Given the description of an element on the screen output the (x, y) to click on. 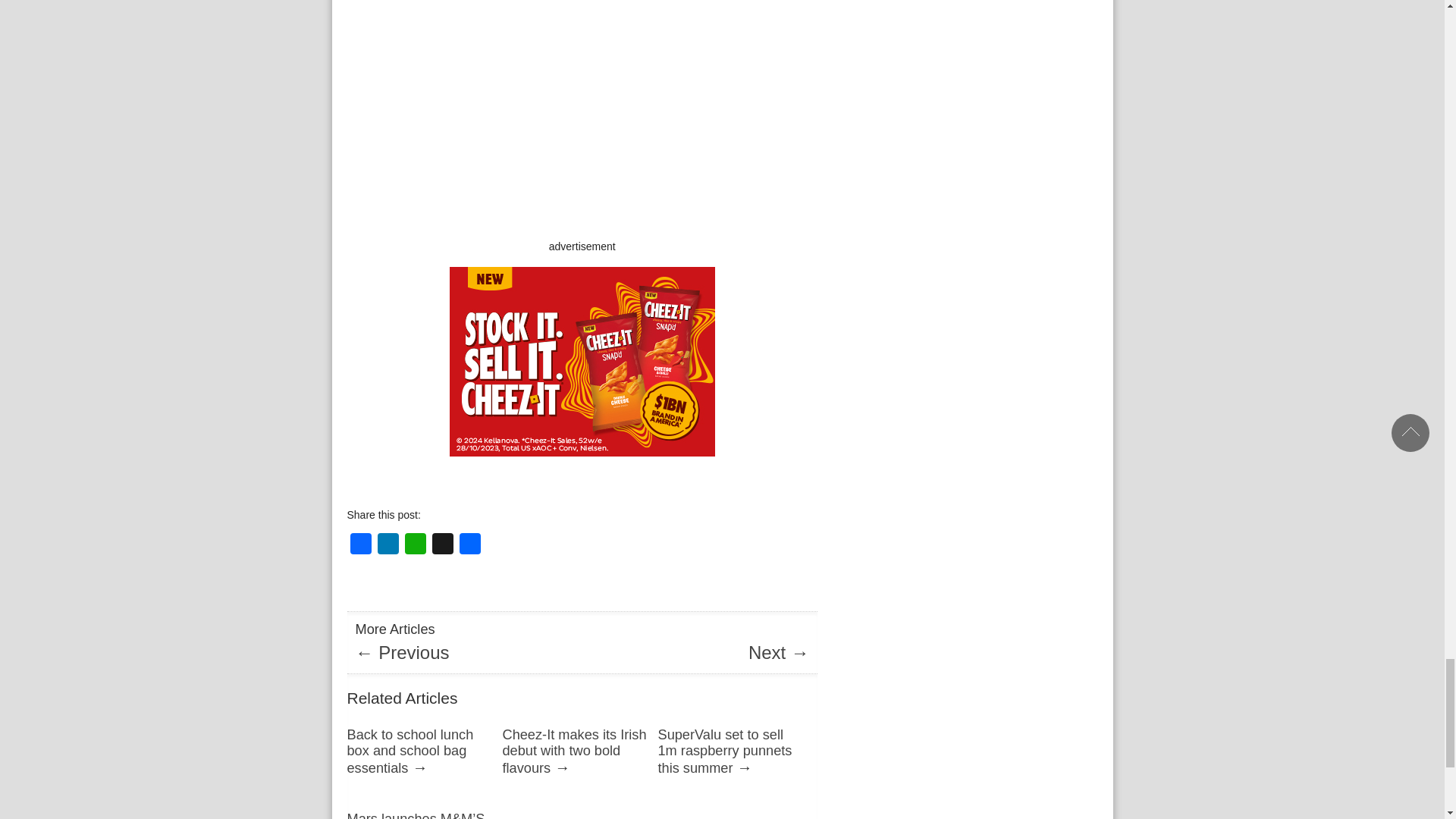
SuperValu set to sell 1m raspberry punnets this summer (725, 751)
Share (470, 544)
Facebook (360, 544)
X (443, 544)
Back to school lunch box and school bag essentials (410, 751)
Cheez-It makes its Irish debut with two bold flavours (574, 751)
WhatsApp (415, 544)
LinkedIn (387, 544)
